Given the description of an element on the screen output the (x, y) to click on. 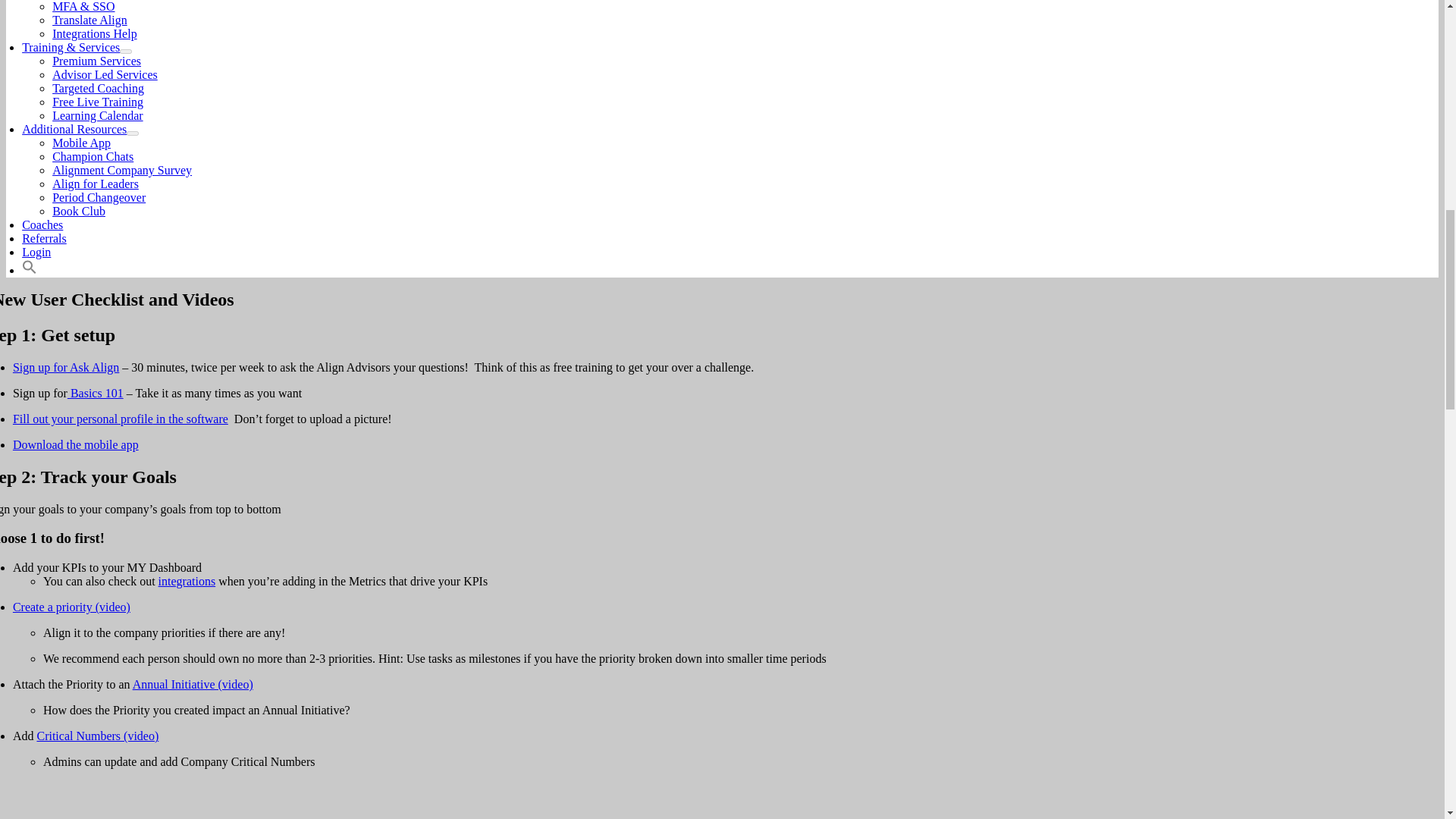
Translate Align (90, 19)
Targeted Coaching (98, 88)
Free Live Training (97, 101)
Integrations Help (94, 33)
Learning Calendar (97, 115)
Premium Services (96, 60)
Advisor Led Services (104, 74)
